Given the description of an element on the screen output the (x, y) to click on. 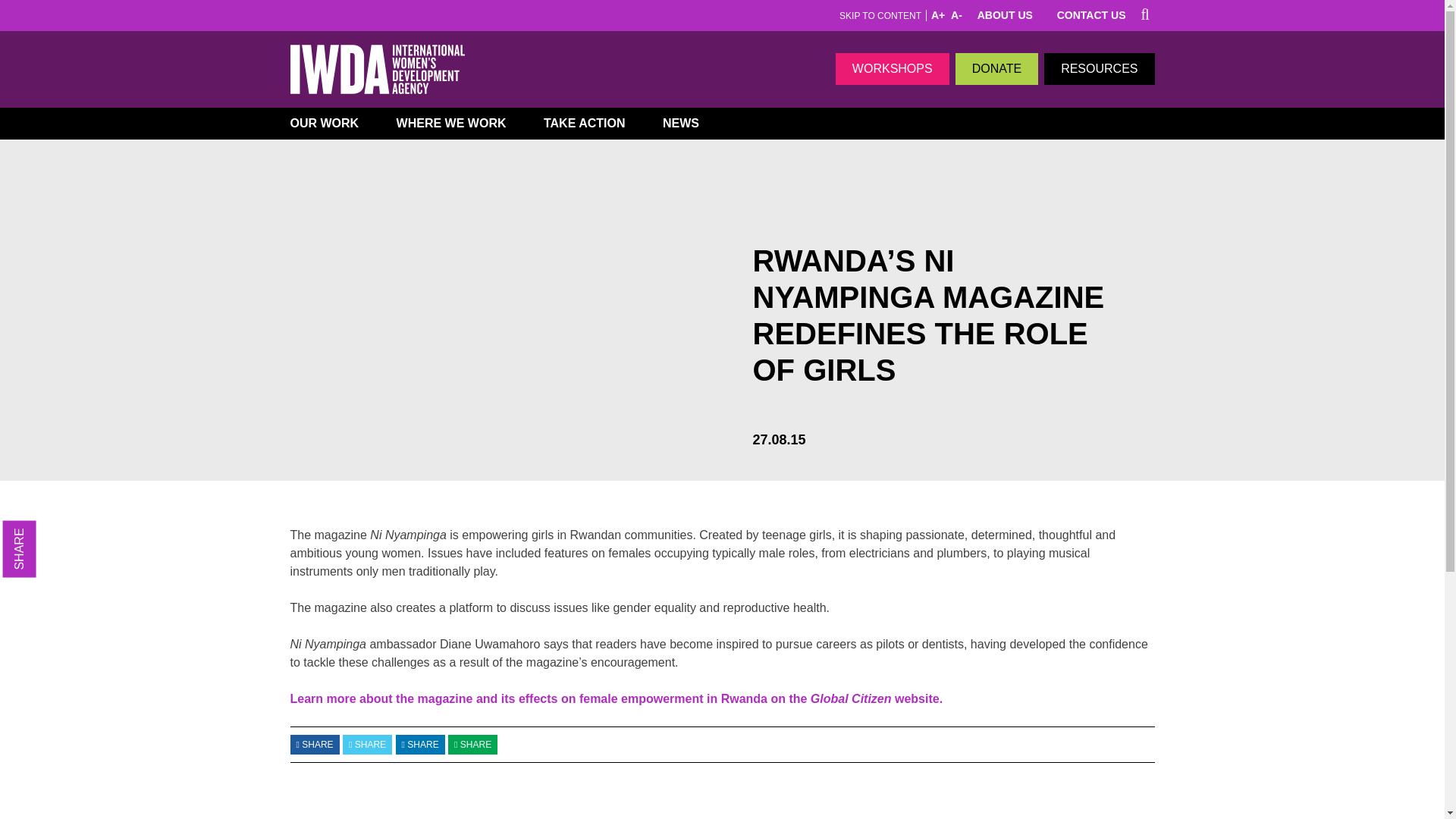
IWDA (376, 69)
OUR WORK (330, 123)
SKIP TO CONTENT (880, 15)
WHERE WE WORK (457, 123)
CONTACT US (1090, 15)
DONATE (996, 69)
WORKSHOPS (892, 69)
ABOUT US (1004, 15)
RESOURCES (1098, 69)
A- (956, 15)
